Given the description of an element on the screen output the (x, y) to click on. 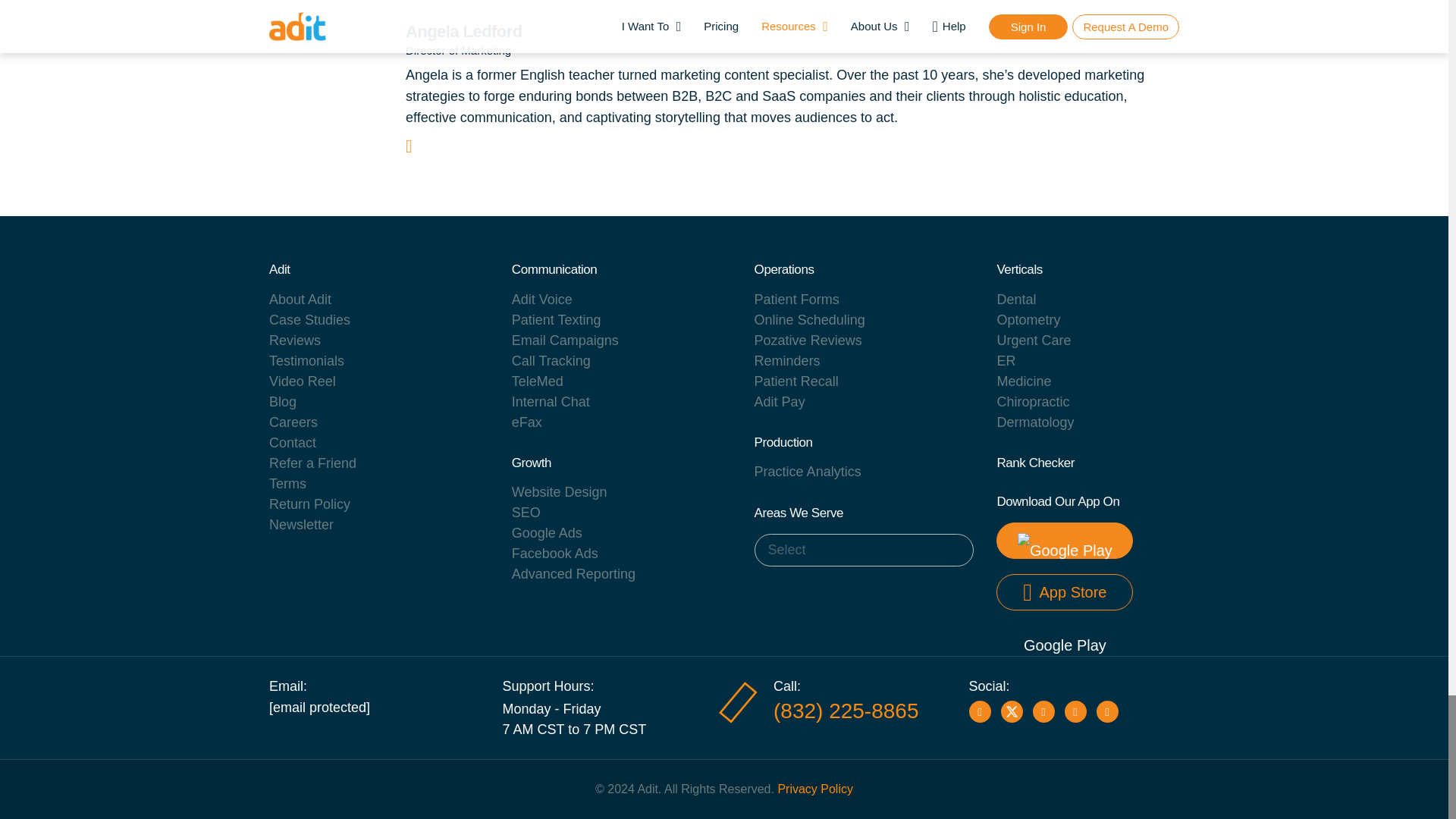
Play (1107, 711)
Facebook (980, 711)
Linkedin (1075, 711)
Twitter (1012, 711)
Instagram (1043, 711)
